Given the description of an element on the screen output the (x, y) to click on. 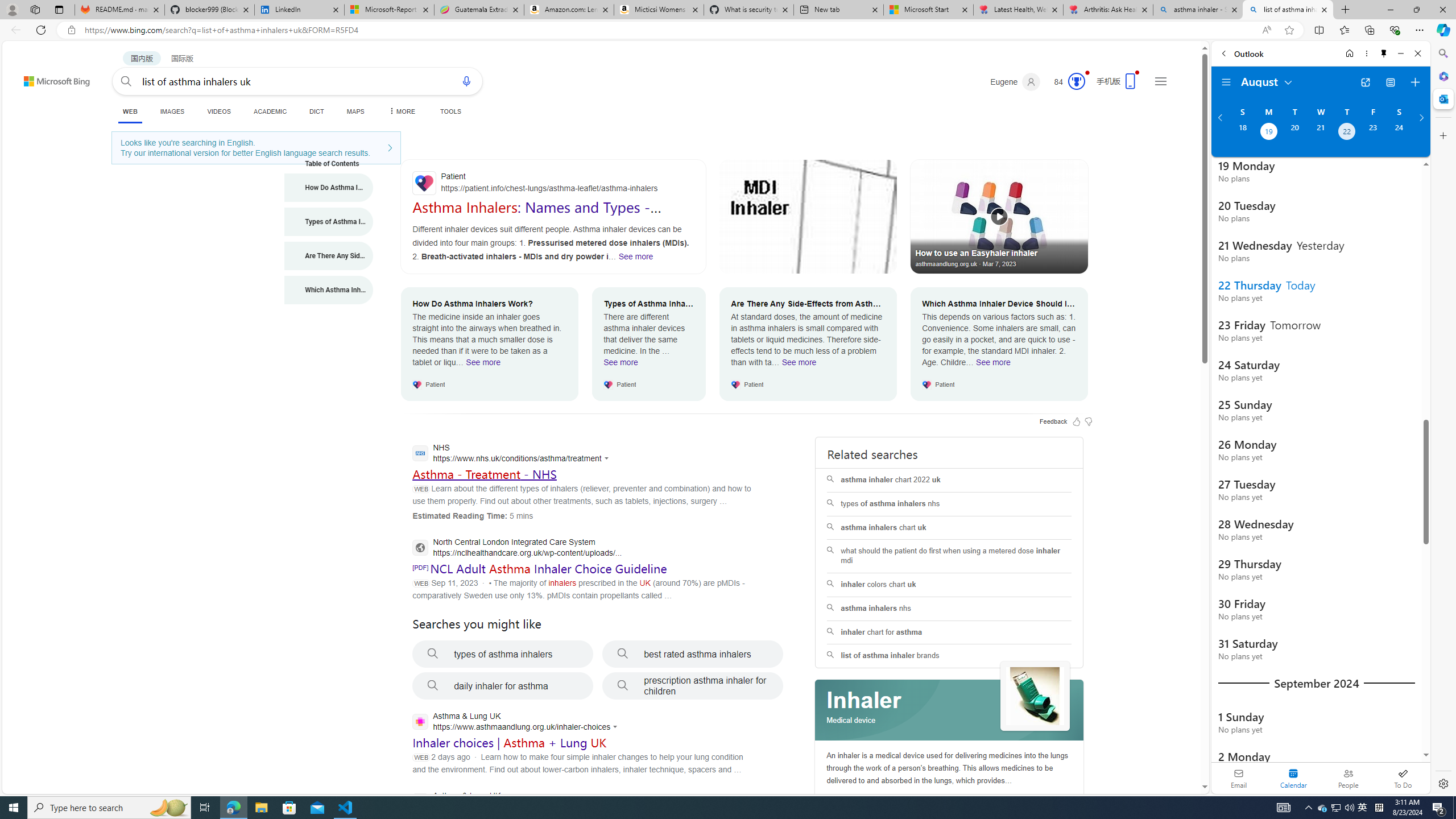
Search using voice (465, 80)
inhaler colors chart uk (949, 584)
Eugene (1015, 81)
Back to Bing search (50, 78)
inhaler chart for asthma (949, 632)
People (1347, 777)
Feedback Dislike (1088, 420)
asthma inhalers chart uk (949, 527)
MAPS (355, 111)
prescription asthma inhaler for children (692, 685)
